Given the description of an element on the screen output the (x, y) to click on. 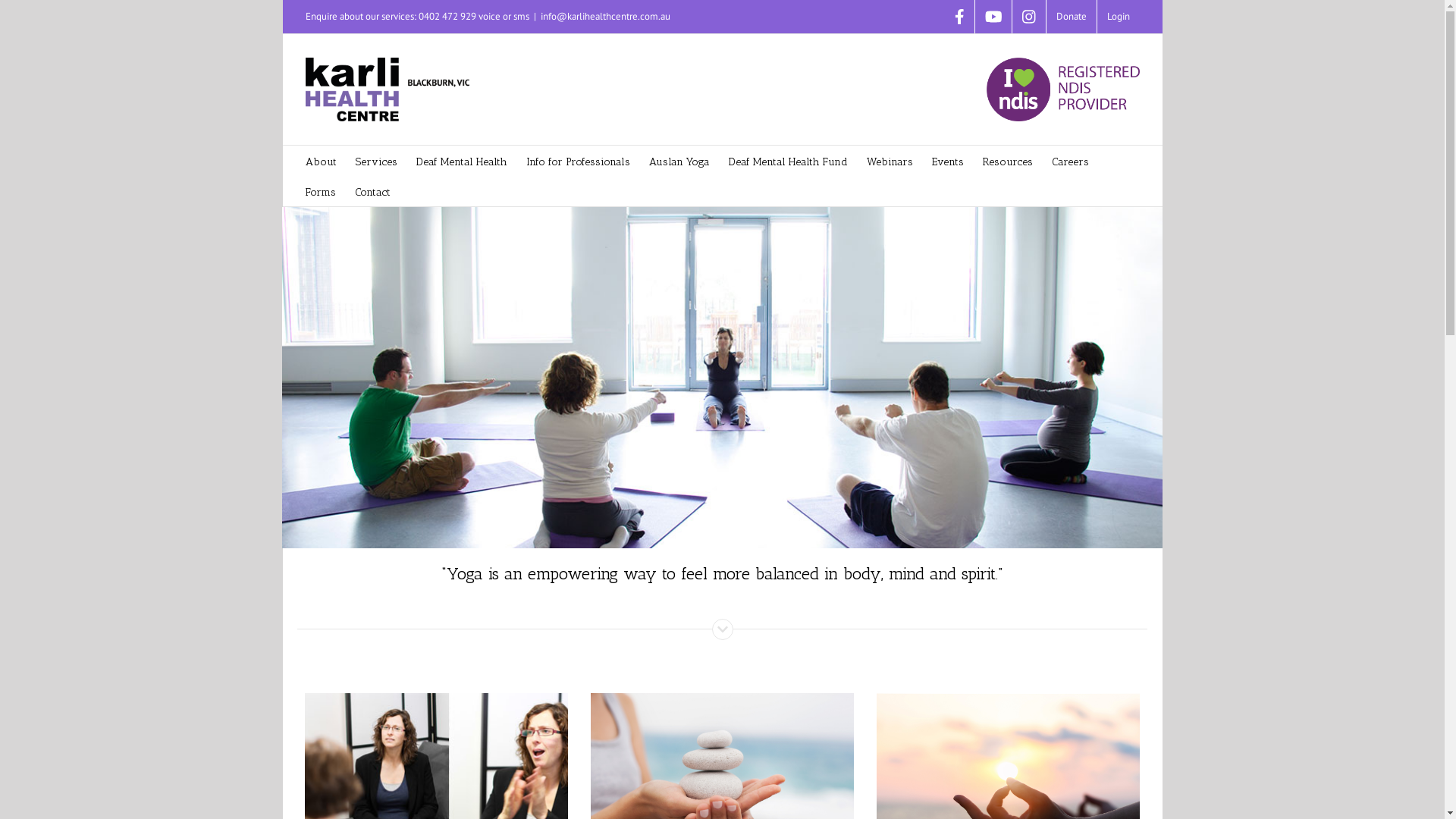
Deaf Mental Health Fund Element type: text (787, 160)
Login Element type: text (1117, 16)
Webinars Element type: text (889, 160)
Contact Element type: text (372, 190)
0402 472 929 Element type: text (447, 15)
Careers Element type: text (1069, 160)
Forms Element type: text (319, 190)
Events Element type: text (947, 160)
info@karlihealthcentre.com.au Element type: text (604, 15)
Deaf Mental Health Element type: text (460, 160)
Resources Element type: text (1007, 160)
Donate Element type: text (1071, 16)
Services Element type: text (375, 160)
Auslan Yoga Element type: text (679, 160)
About Element type: text (319, 160)
Info for Professionals Element type: text (578, 160)
